Given the description of an element on the screen output the (x, y) to click on. 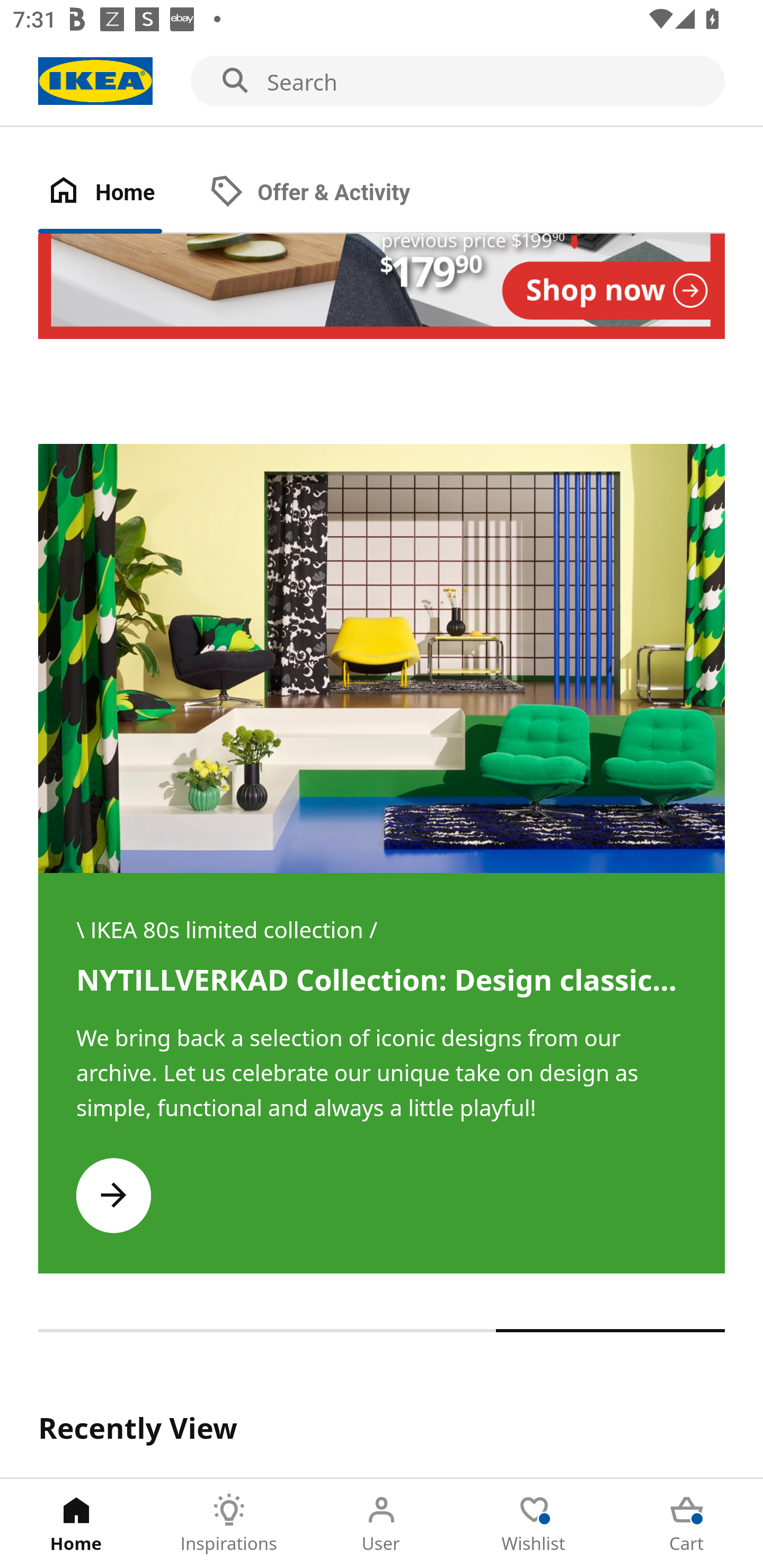
Search (381, 81)
Home
Tab 1 of 2 (118, 192)
Offer & Activity
Tab 2 of 2 (327, 192)
Home
Tab 1 of 5 (76, 1522)
Inspirations
Tab 2 of 5 (228, 1522)
User
Tab 3 of 5 (381, 1522)
Wishlist
Tab 4 of 5 (533, 1522)
Cart
Tab 5 of 5 (686, 1522)
